Given the description of an element on the screen output the (x, y) to click on. 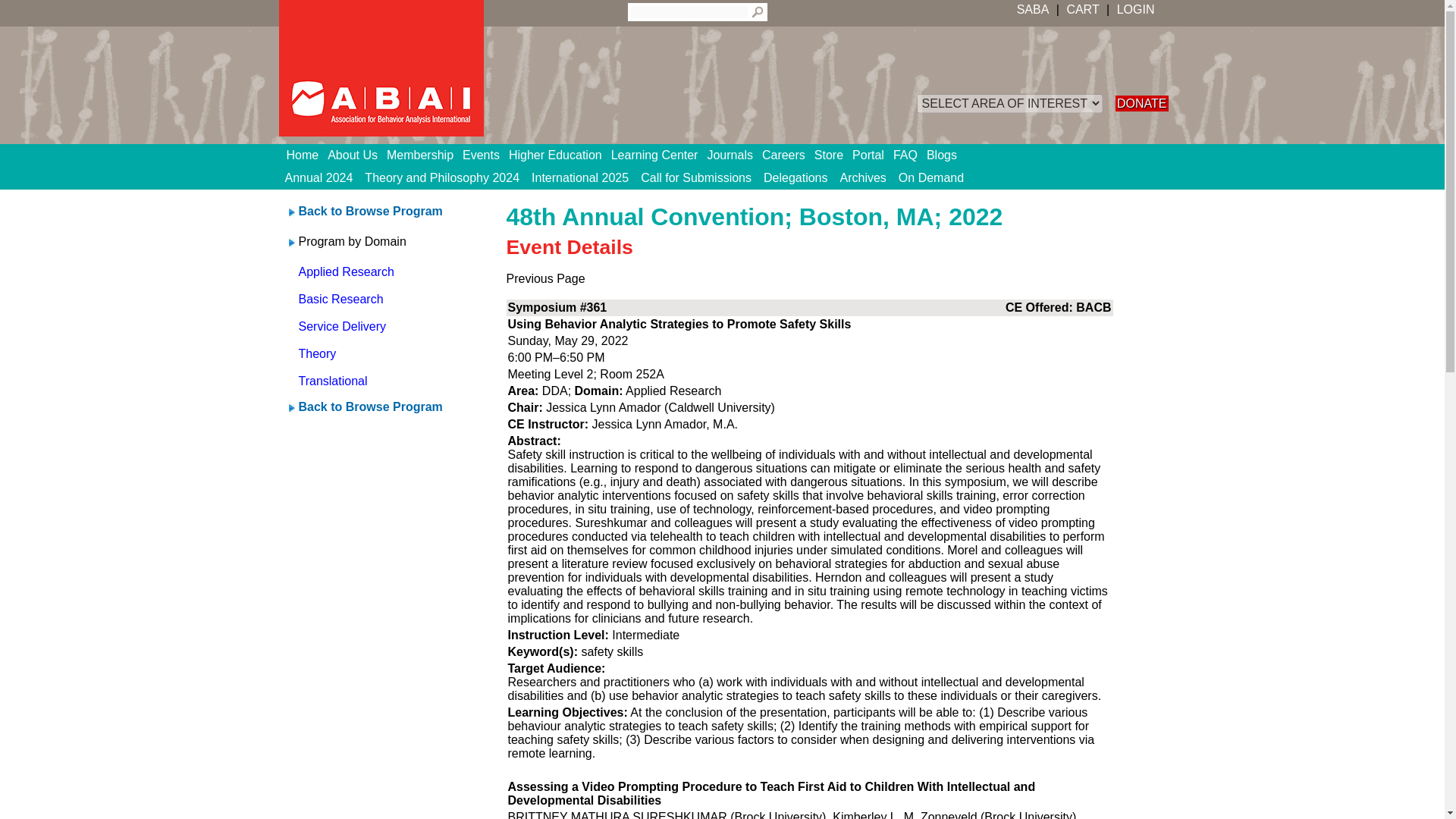
Theory and Philosophy 2024 (441, 178)
Portal (872, 155)
On Demand (930, 178)
CART (1082, 9)
Annual 2024 (319, 178)
Store (832, 155)
Archives (863, 178)
Back to Browse Program (370, 210)
Back to search (370, 210)
Learning Center (659, 155)
Careers (787, 155)
Call for Submissions (695, 178)
Higher Education (559, 155)
LOGIN (1133, 9)
International 2025 (579, 178)
